Given the description of an element on the screen output the (x, y) to click on. 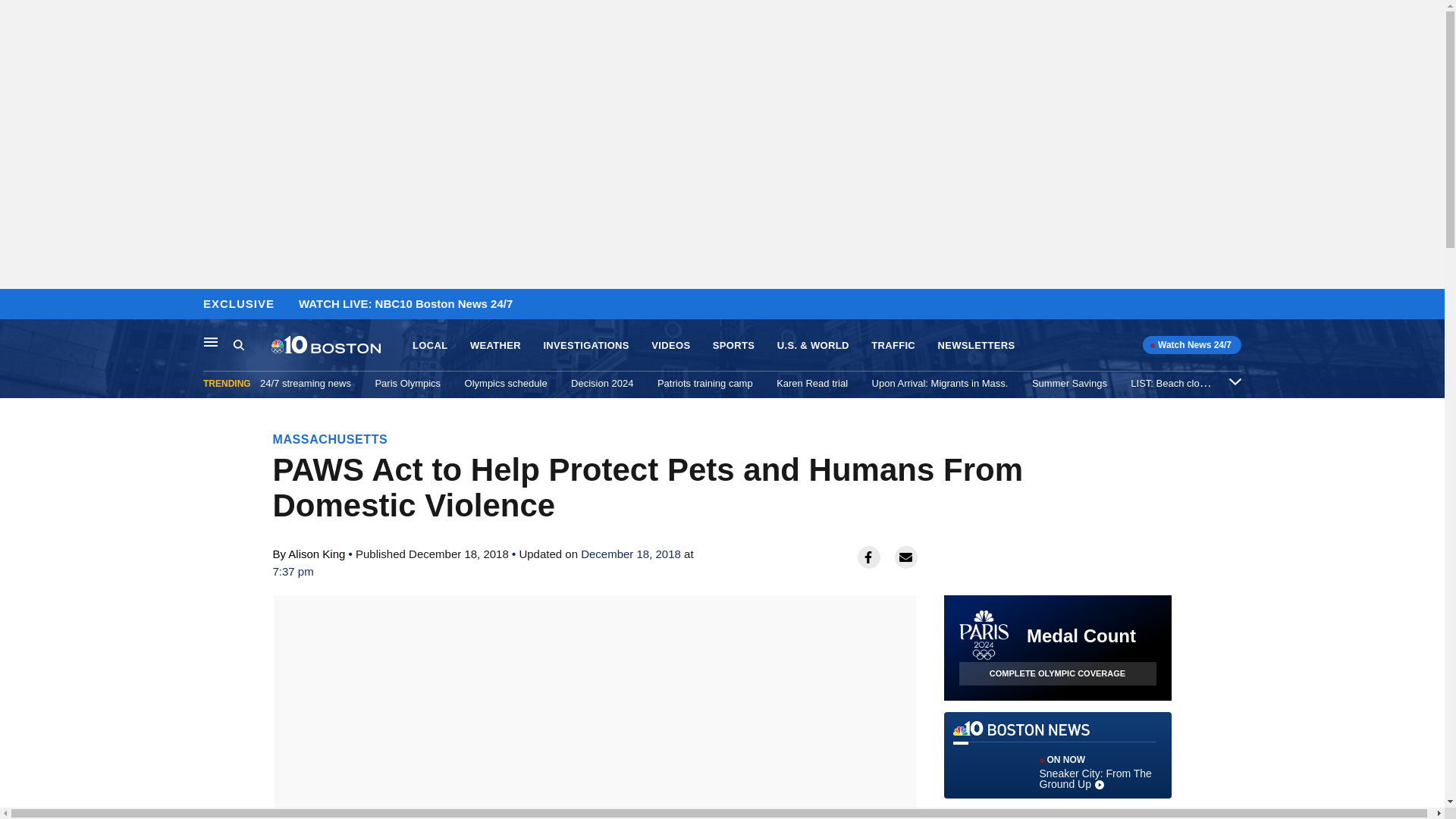
Summer Savings (1069, 383)
WEATHER (495, 345)
MASSACHUSETTS (330, 439)
Search (252, 345)
SPORTS (733, 345)
LIST: Beach closures (1177, 383)
Karen Read trial (811, 383)
Decision 2024 (601, 383)
VIDEOS (670, 345)
Expand (1234, 381)
Search (238, 344)
NEWSLETTERS (975, 345)
Main Navigation (210, 341)
Paris Olympics (407, 383)
Upon Arrival: Migrants in Mass. (940, 383)
